Given the description of an element on the screen output the (x, y) to click on. 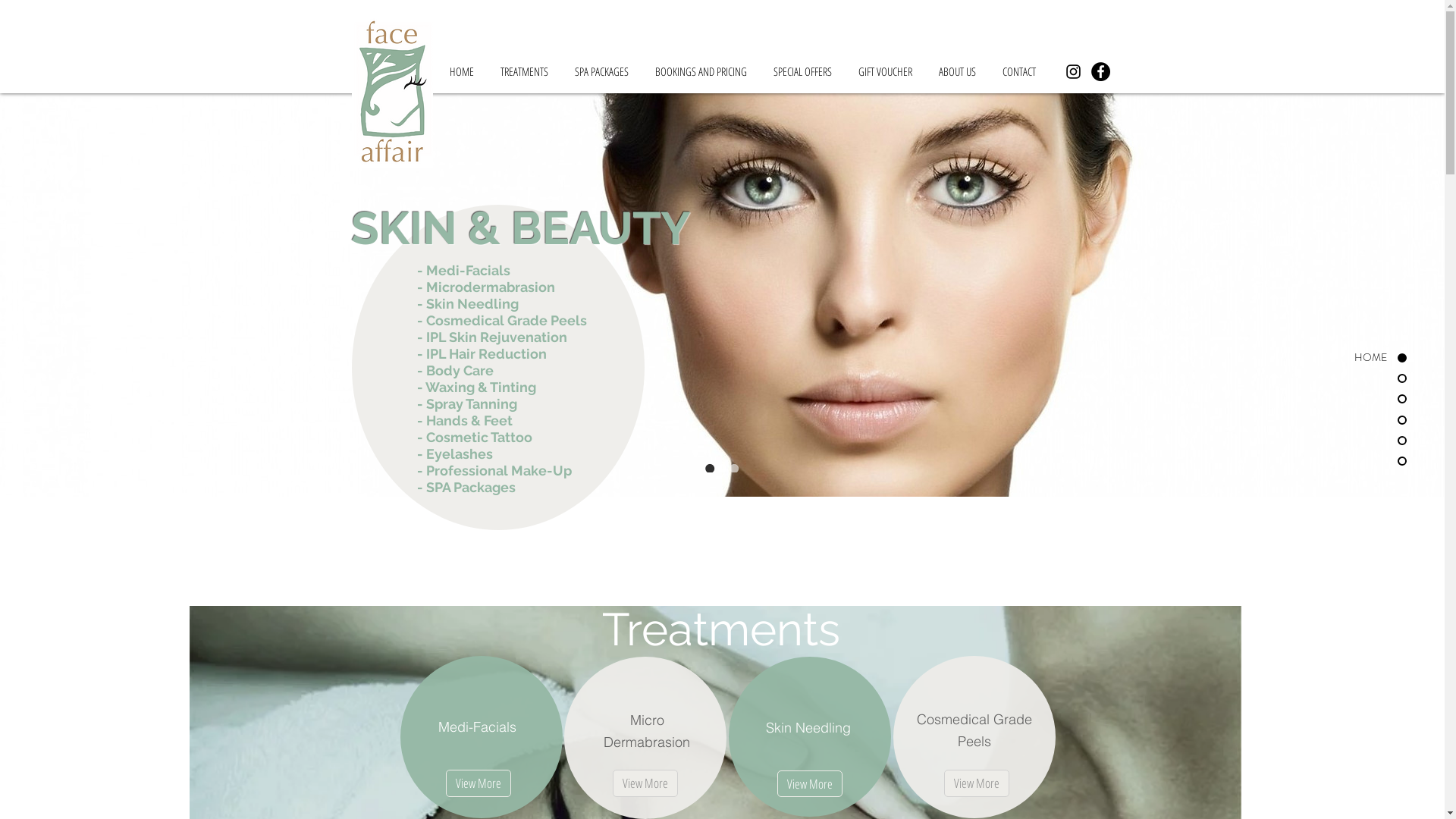
ABOUT US Element type: text (958, 71)
SPECIAL OFFERS Element type: text (803, 71)
Face Affair Element type: hover (392, 93)
CONTACT Element type: text (1020, 71)
BOOKINGS AND PRICING Element type: text (702, 71)
Hands & Feet Element type: text (469, 420)
SKIN & BEAUTY Element type: text (520, 225)
SPA Packages Element type: text (470, 487)
- Cosmetic Tattoo Element type: text (474, 437)
View More Element type: text (478, 783)
TREATMENTS Element type: text (525, 71)
Microdermabrasion Element type: text (490, 286)
Skin Needling Element type: text (472, 303)
Professional Make-Up Element type: text (498, 470)
View More Element type: text (644, 783)
HOME Element type: text (1345, 357)
Spray Tanning Element type: text (471, 403)
SPA PACKAGES Element type: text (602, 71)
View More Element type: text (808, 783)
Cosmedical Grade Peels Element type: text (506, 320)
HOME Element type: text (463, 71)
IPL Skin Rejuvenation Element type: text (496, 337)
- Eyelashes Element type: text (454, 453)
Waxing & Tinting Element type: text (479, 387)
View More Element type: text (975, 783)
Body Care Element type: text (459, 370)
IPL Hair Reduction Element type: text (486, 353)
Embedded Content Element type: hover (985, 27)
GIFT VOUCHER Element type: text (886, 71)
Medi-Facials Element type: text (468, 270)
